Given the description of an element on the screen output the (x, y) to click on. 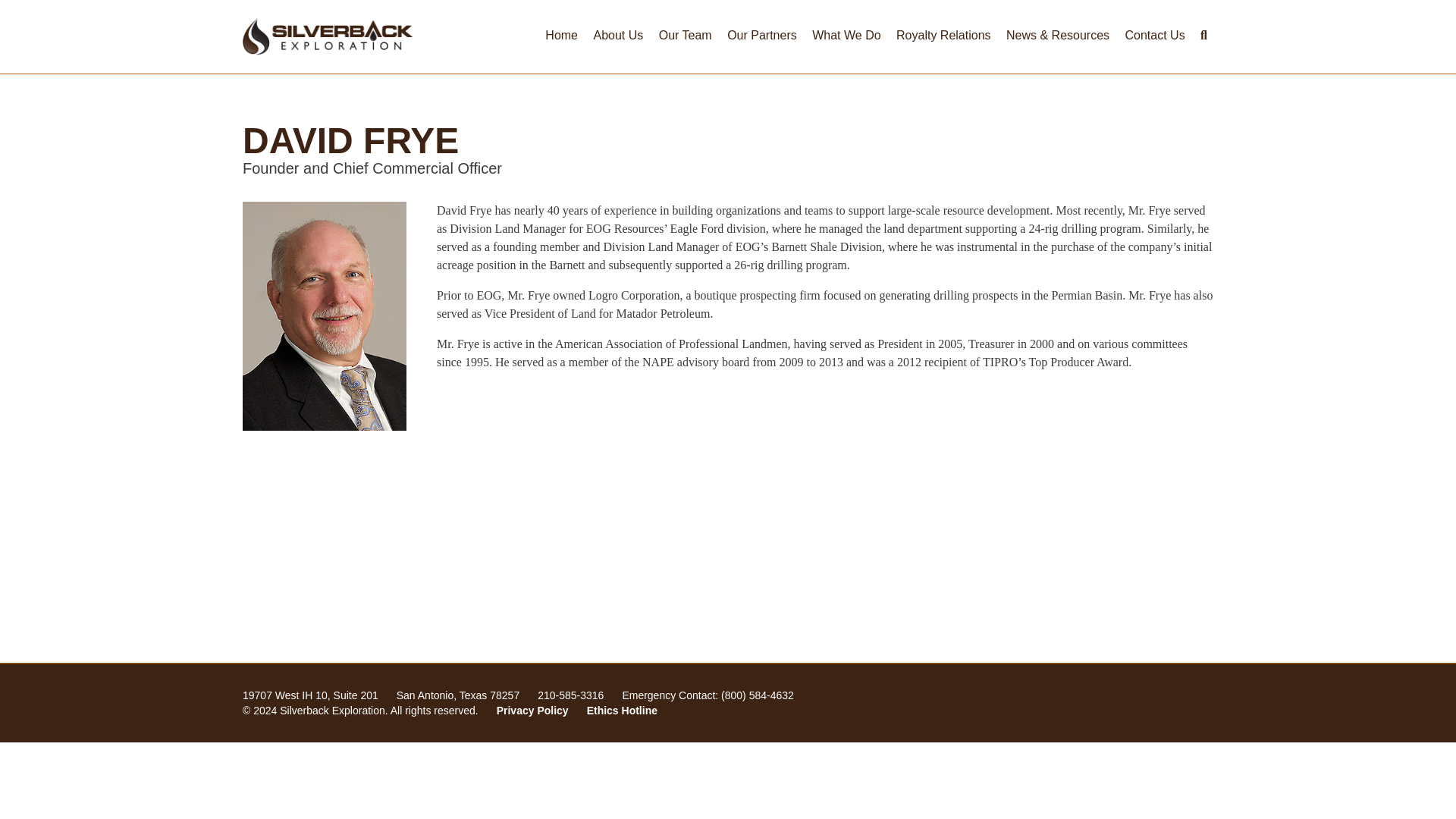
Home (327, 36)
Royalty Relations (943, 35)
About Us (617, 35)
Our Team (684, 35)
Our Partners (761, 35)
What We Do (846, 35)
Contact Us (1155, 35)
Privacy Policy  (532, 710)
Home (560, 35)
Privacy Policy (532, 710)
Ethics Hotline (622, 710)
